Given the description of an element on the screen output the (x, y) to click on. 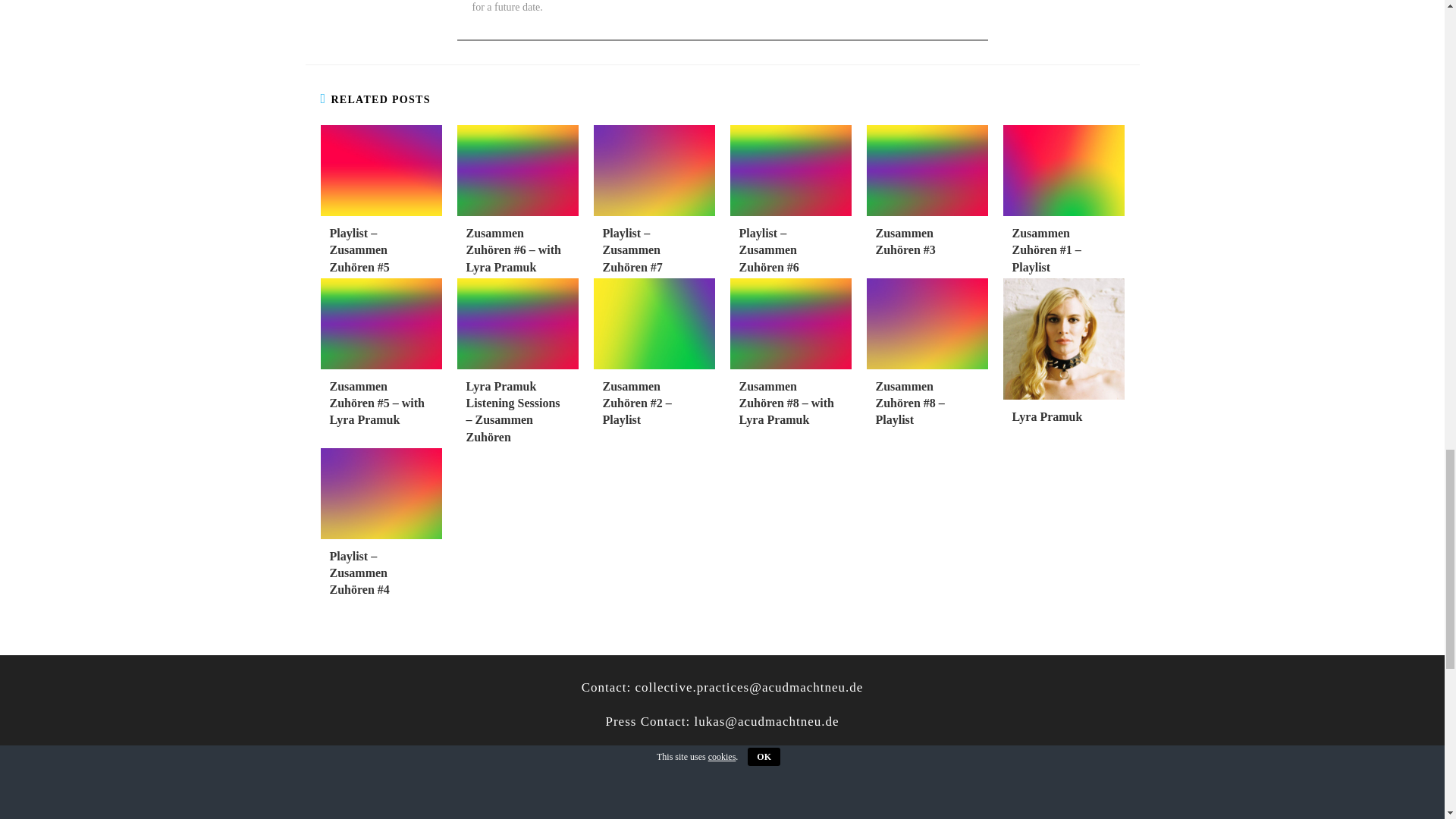
Lyra Pramuk (1063, 416)
Lyra Pramuk (1063, 416)
